Given the description of an element on the screen output the (x, y) to click on. 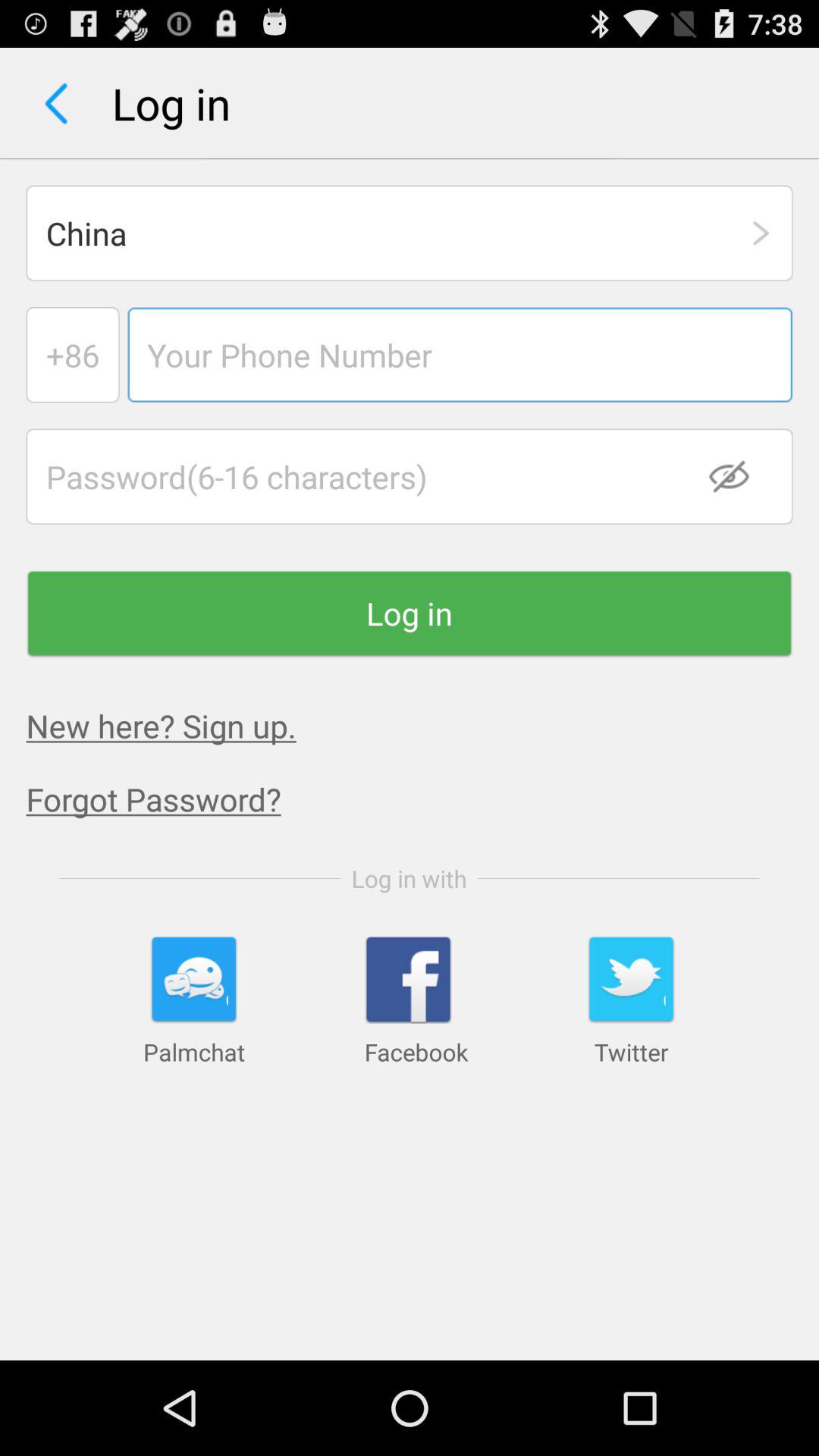
select the button below the log in icon (161, 725)
